Given the description of an element on the screen output the (x, y) to click on. 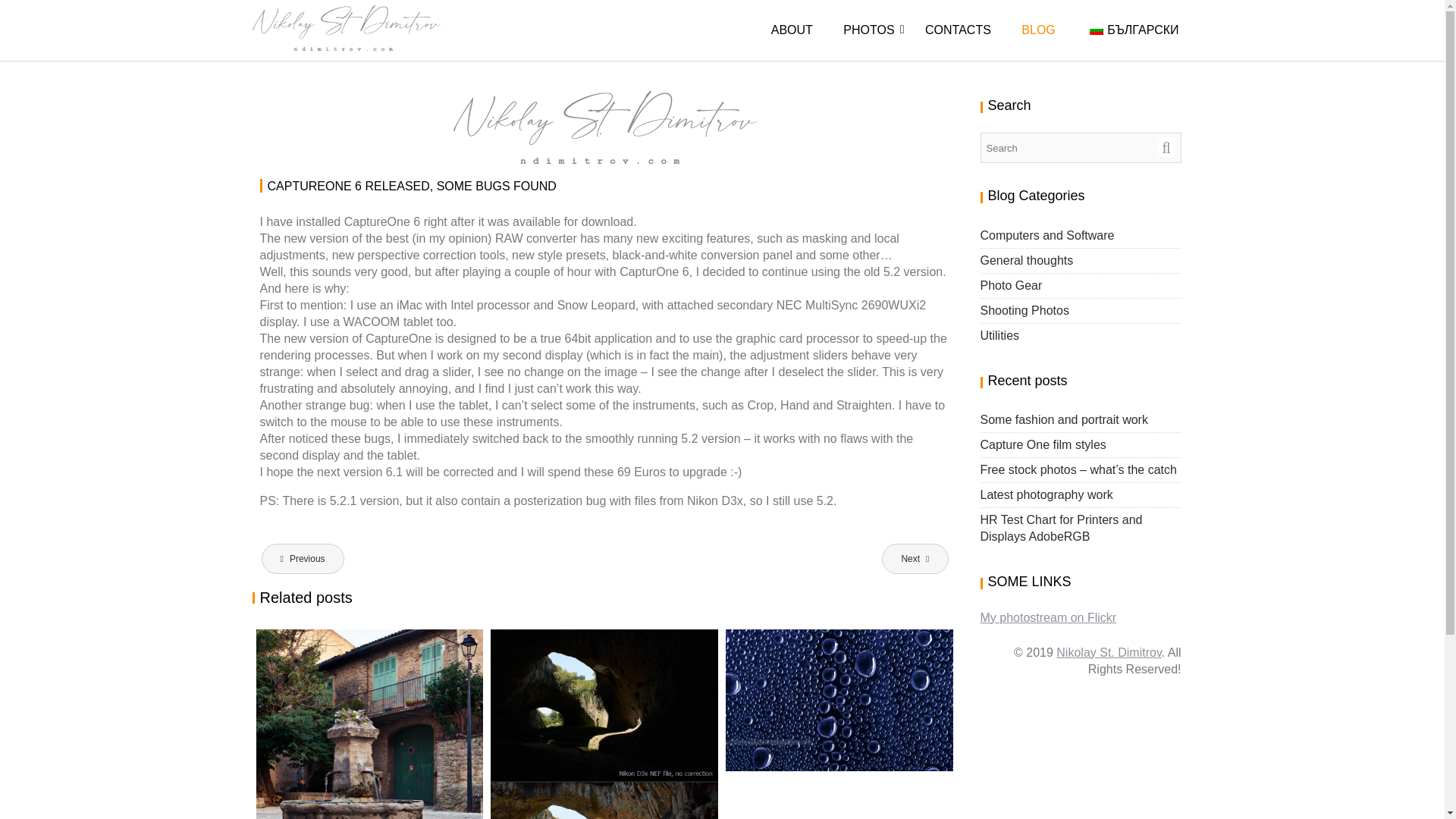
ABOUT (792, 30)
photo galleries (868, 30)
General thoughts (1026, 259)
CONTACTS (957, 30)
Photographer Nikolay Dimitrov on Flickr (1047, 617)
BLOG (1037, 30)
Shooting Photos (1023, 309)
Latest photography work (1045, 494)
Previous (301, 558)
Capture One film styles (1042, 444)
